Given the description of an element on the screen output the (x, y) to click on. 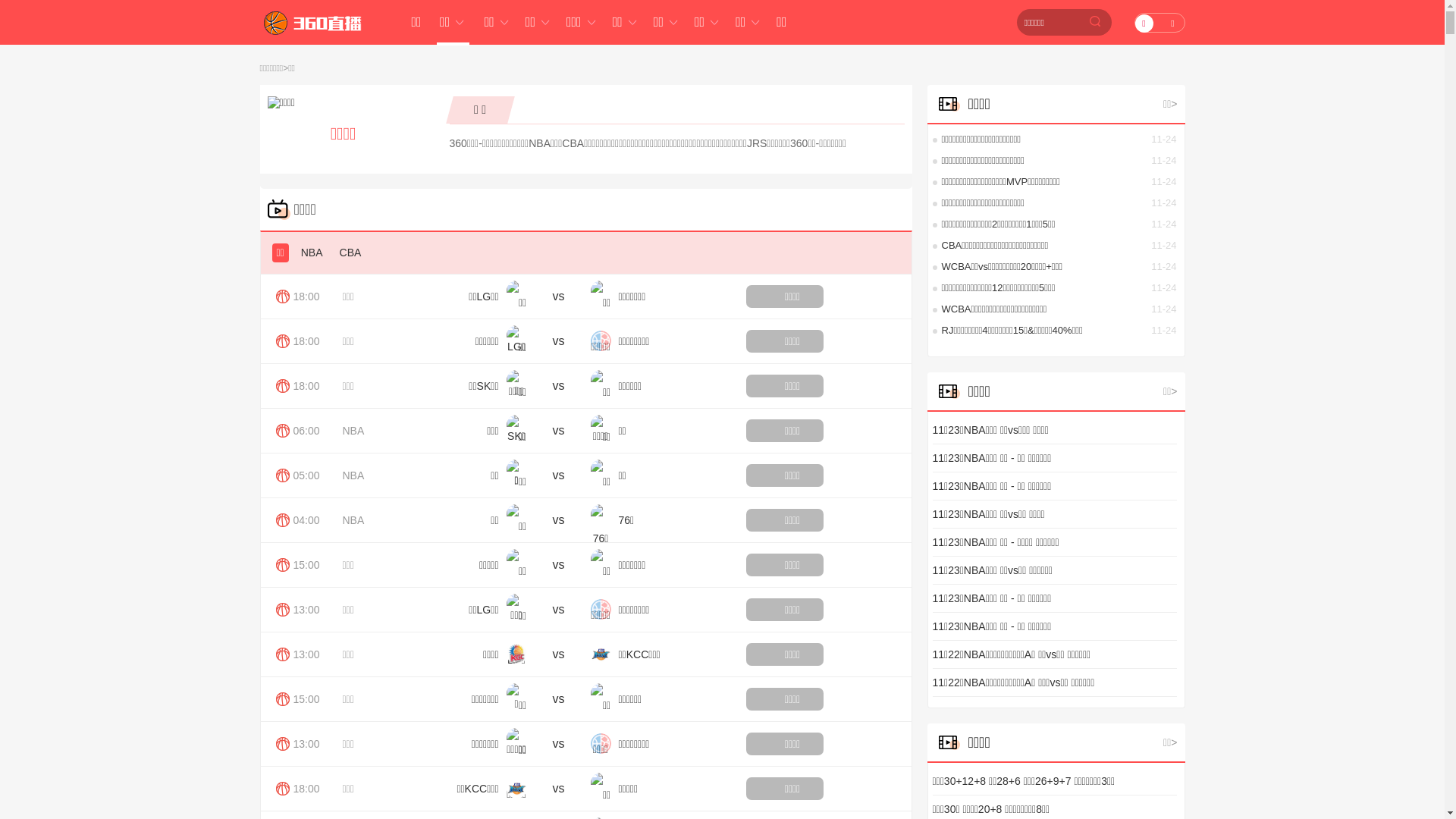
CBA Element type: text (350, 252)
NBA Element type: text (312, 252)
NBA Element type: text (353, 430)
NBA Element type: text (353, 520)
NBA Element type: text (353, 475)
